Given the description of an element on the screen output the (x, y) to click on. 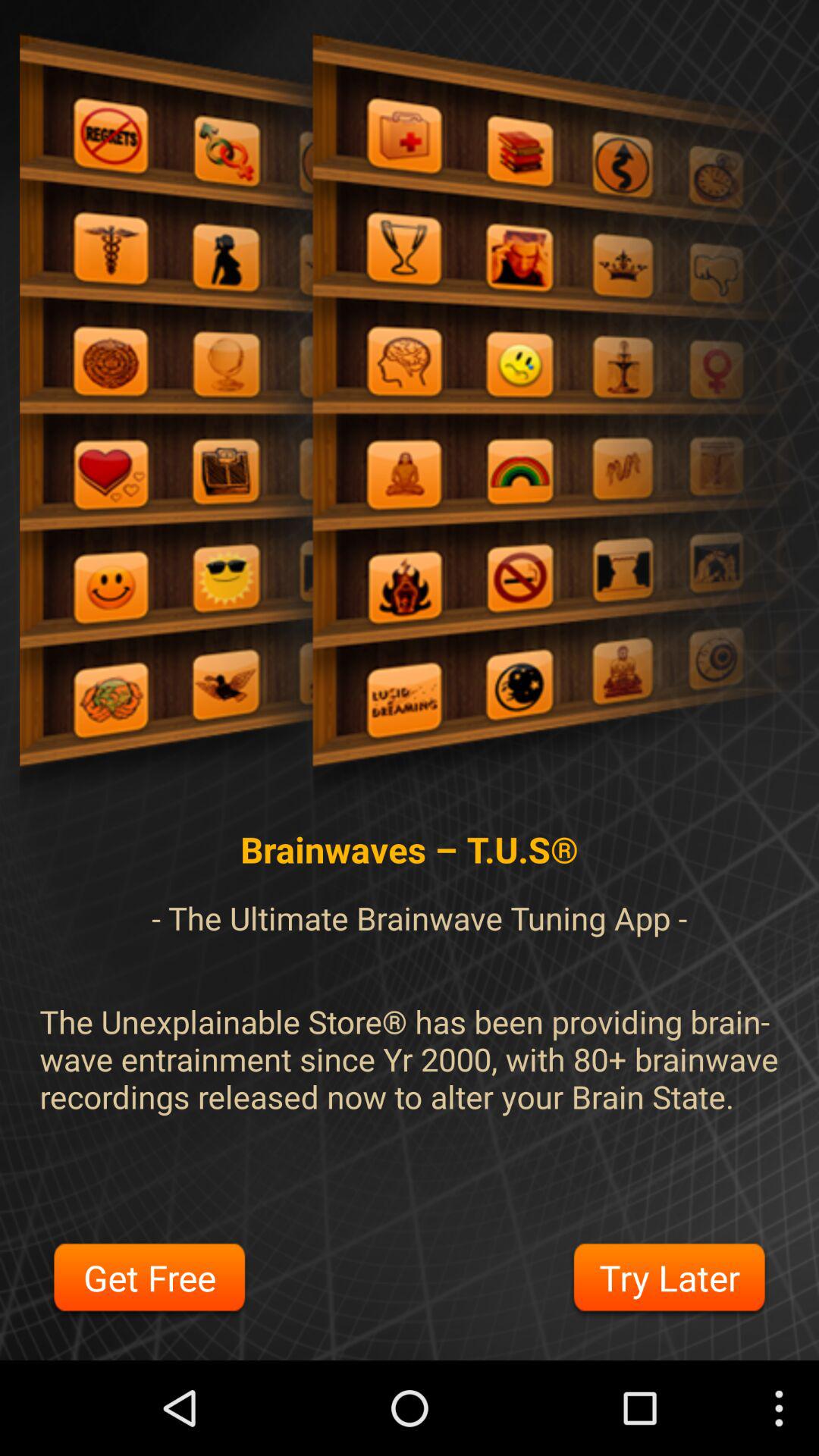
launch button next to the get free button (668, 1280)
